Given the description of an element on the screen output the (x, y) to click on. 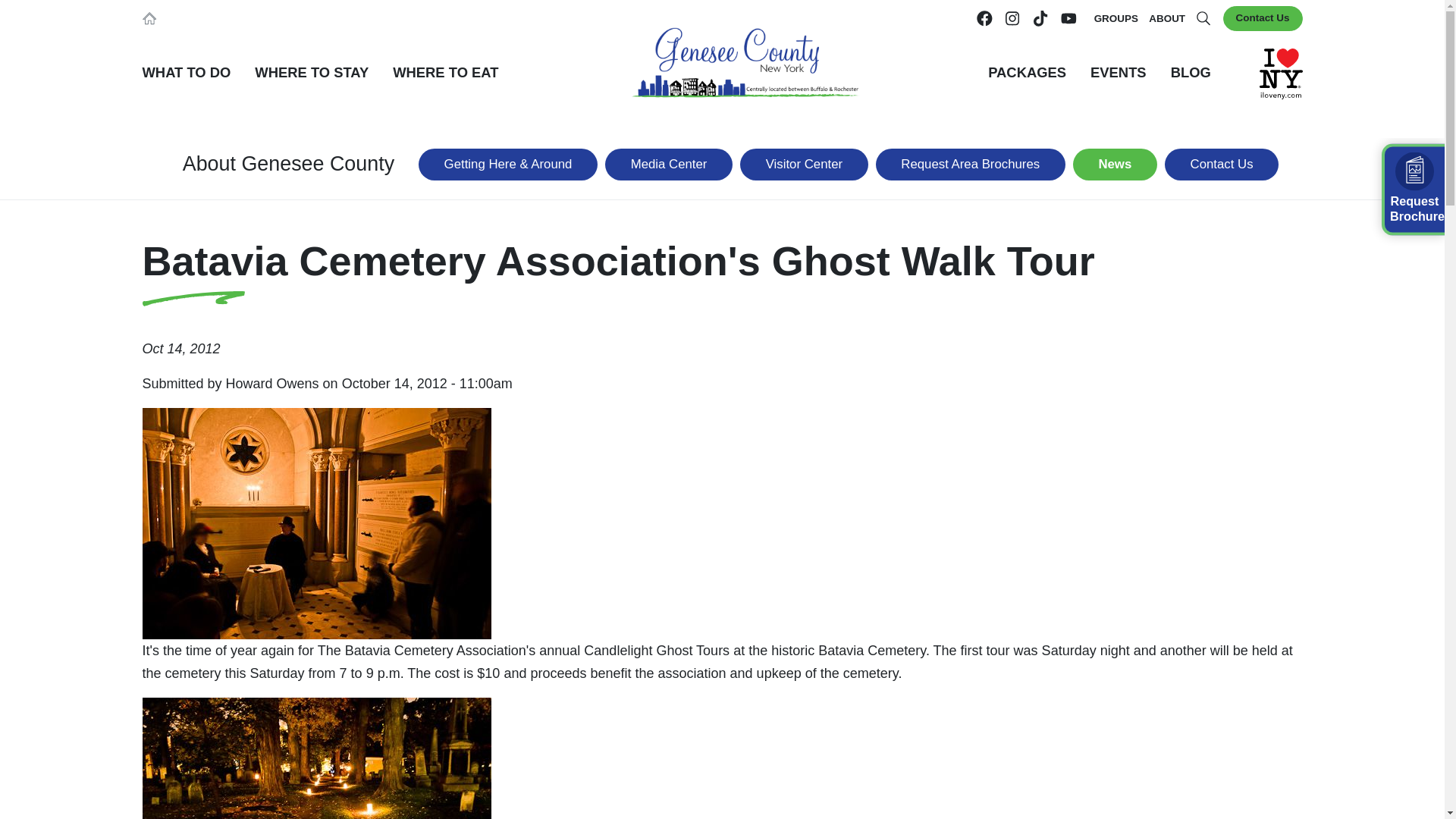
WHERE TO EAT (445, 73)
ABOUT (1166, 18)
WHERE TO STAY (311, 73)
WHAT TO DO (186, 73)
GROUPS (1116, 18)
Contact Us (1263, 18)
